Given the description of an element on the screen output the (x, y) to click on. 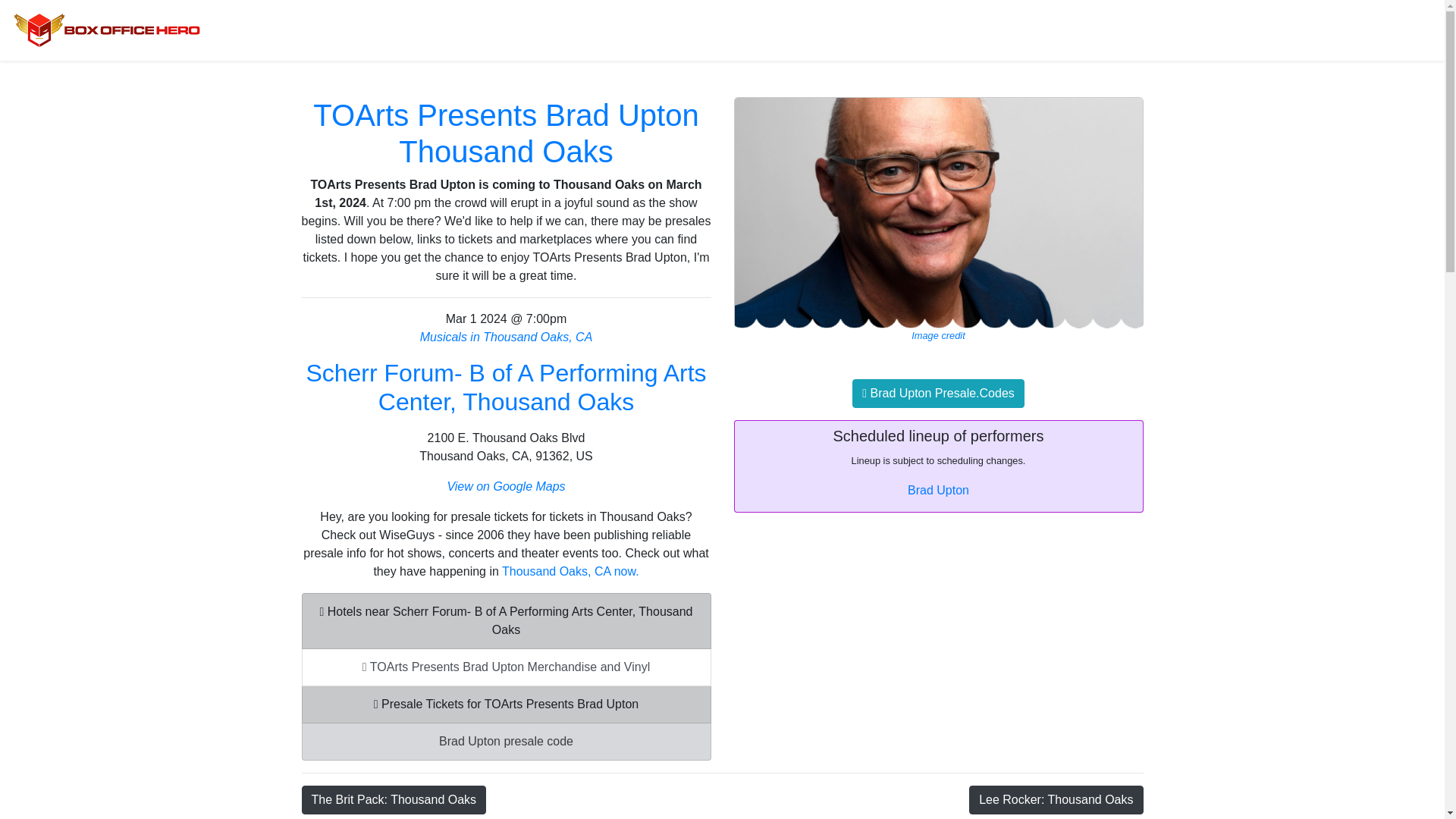
Presale Tickets for TOArts Presents Brad Upton (506, 704)
Thousand Oaks, CA now. (570, 571)
Brad Upton presale password database (506, 741)
Scherr Forum- B of A Performing Arts Center, Thousand Oaks (505, 387)
presale code finder (506, 704)
Musicals in Thousand Oaks, CA (506, 336)
Brad Upton presale code (506, 741)
